Given the description of an element on the screen output the (x, y) to click on. 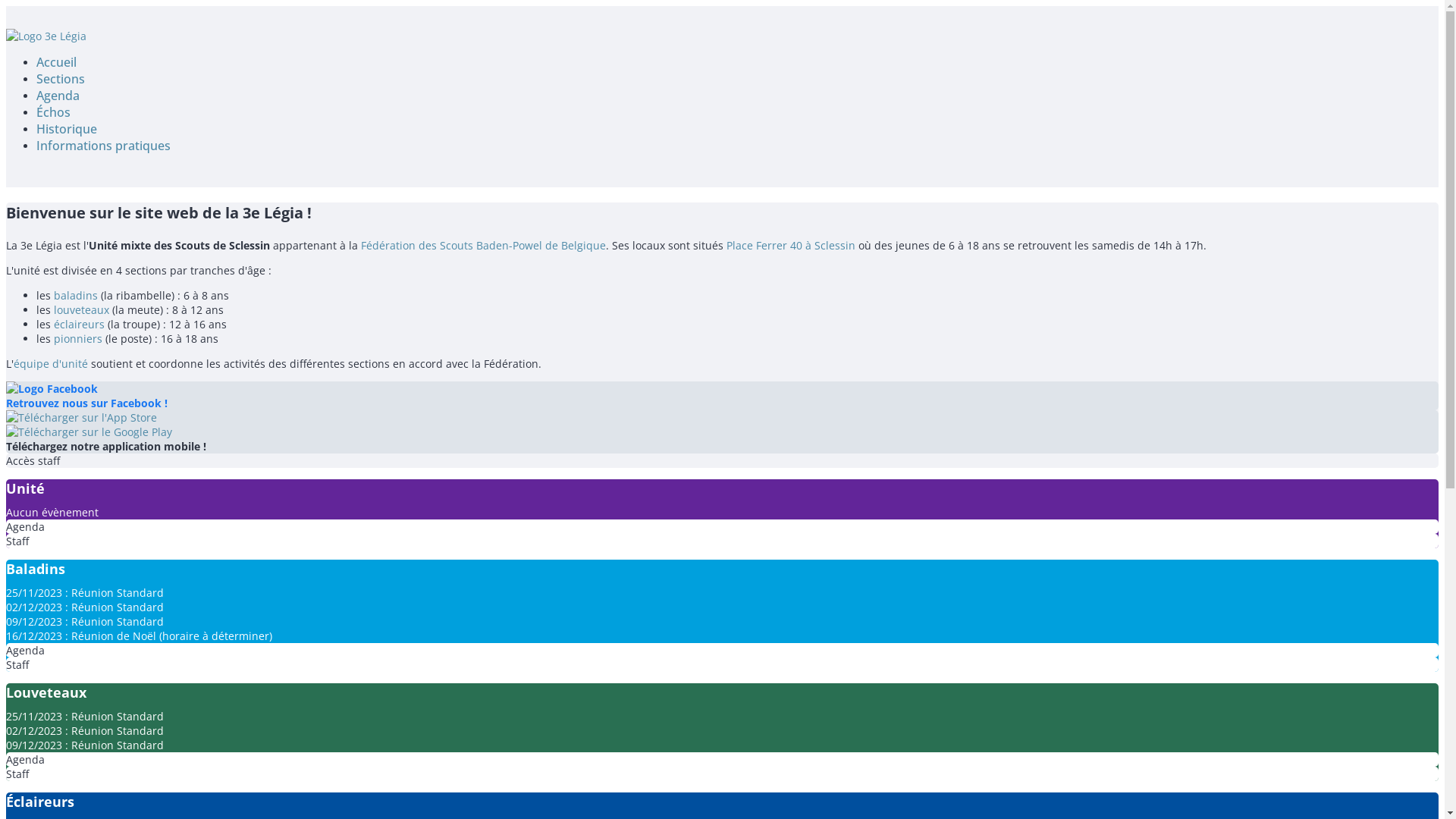
pionniers Element type: text (77, 338)
Sections Element type: text (60, 78)
Retrouvez nous sur Facebook ! Element type: text (722, 395)
Accueil Element type: text (56, 61)
Staff Element type: text (722, 664)
louveteaux Element type: text (81, 309)
Staff Element type: text (722, 540)
Agenda Element type: text (722, 759)
Historique Element type: text (66, 128)
baladins Element type: text (75, 295)
Staff Element type: text (722, 773)
Agenda Element type: text (57, 95)
Informations pratiques Element type: text (103, 145)
Agenda Element type: text (722, 650)
Agenda Element type: text (722, 526)
